Given the description of an element on the screen output the (x, y) to click on. 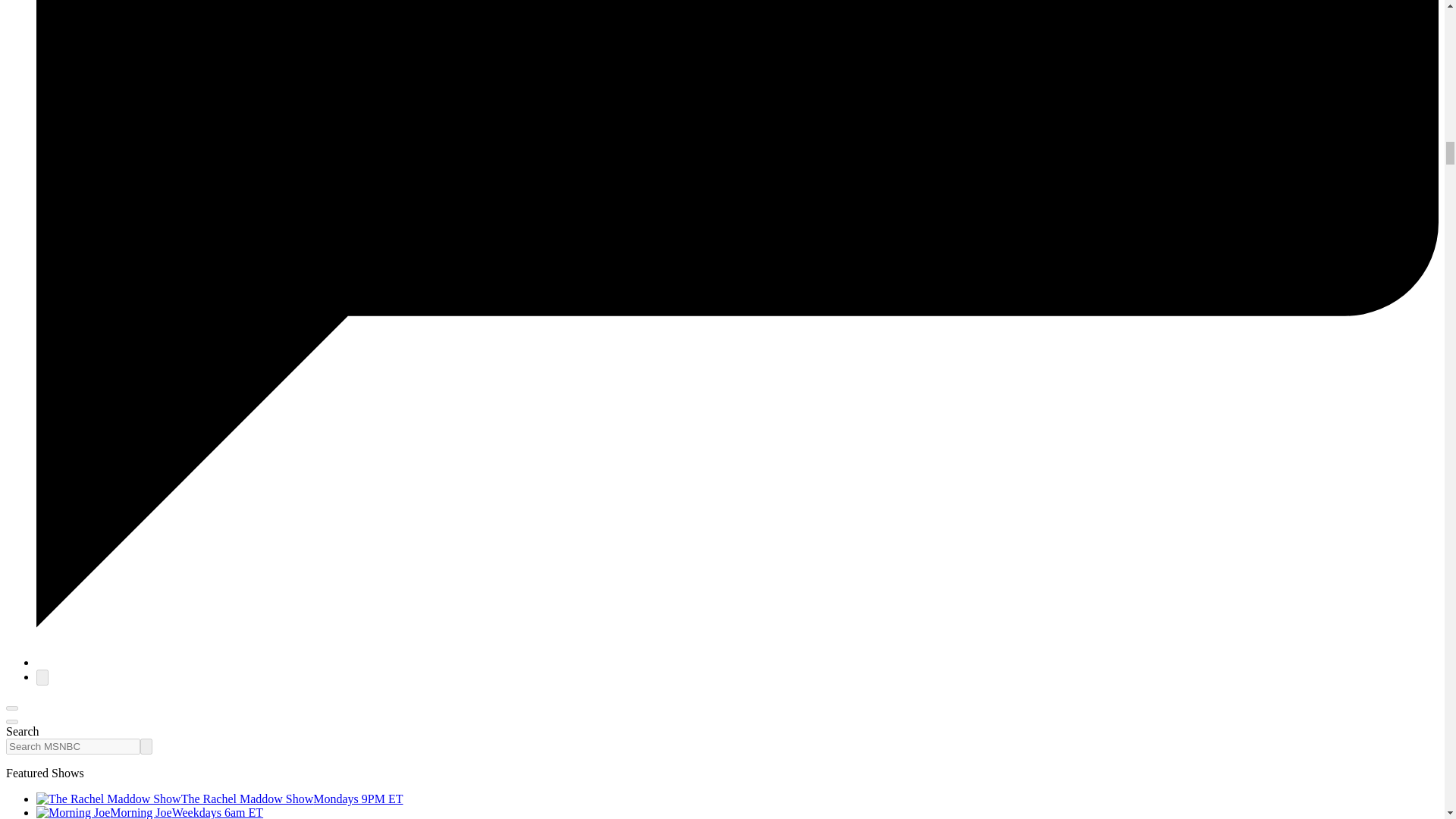
Morning JoeWeekdays 6am ET (149, 812)
The Rachel Maddow ShowMondays 9PM ET (219, 798)
